Given the description of an element on the screen output the (x, y) to click on. 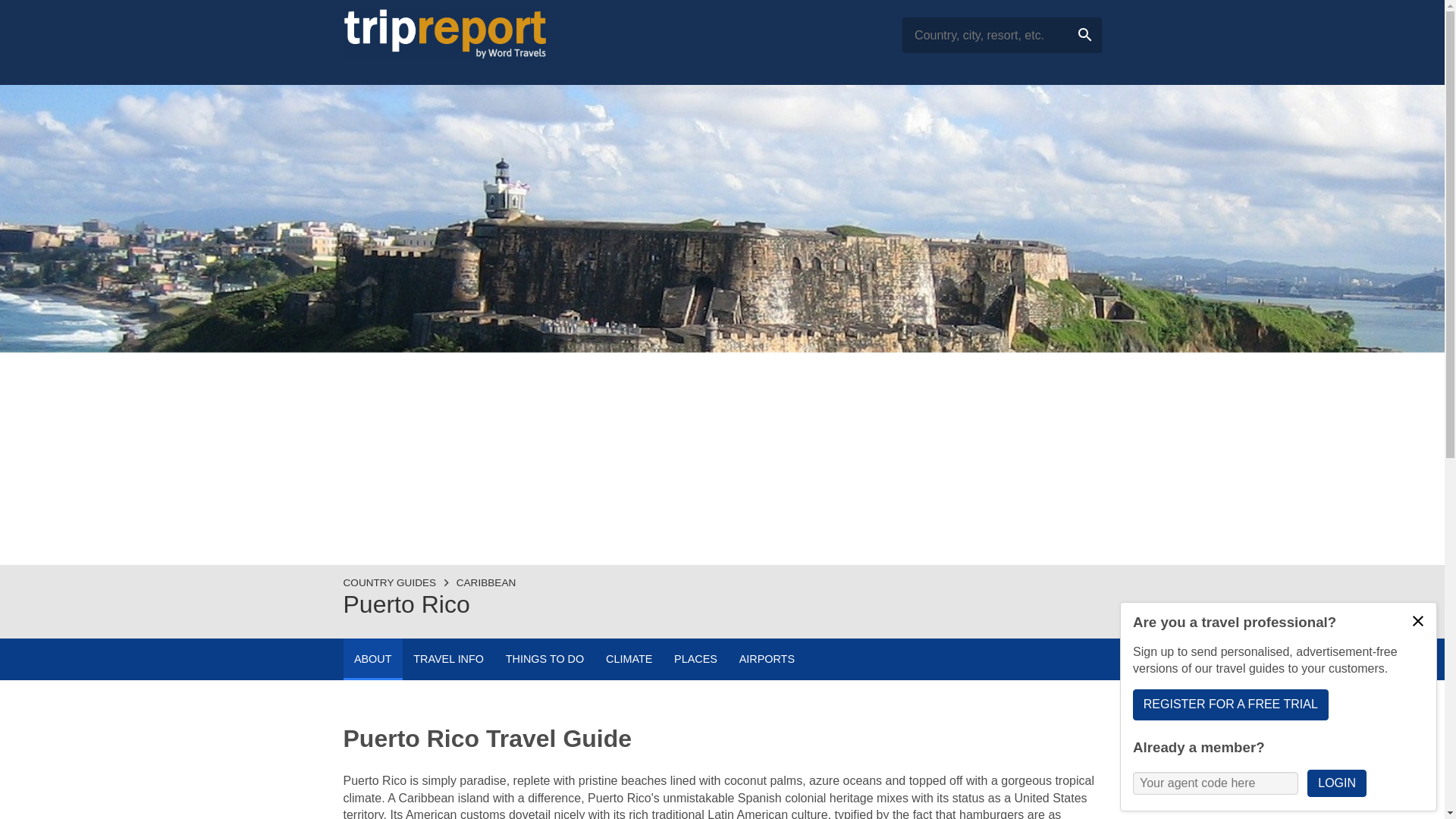
TRAVEL INFO (449, 659)
LOGIN (1417, 621)
ABOUT (371, 659)
AIRPORTS (766, 659)
REGISTER FOR A FREE TRIAL (1229, 704)
LOGIN (1336, 782)
PLACES (696, 659)
CLIMATE (629, 659)
COUNTRY GUIDES (388, 582)
THINGS TO DO (544, 659)
